Given the description of an element on the screen output the (x, y) to click on. 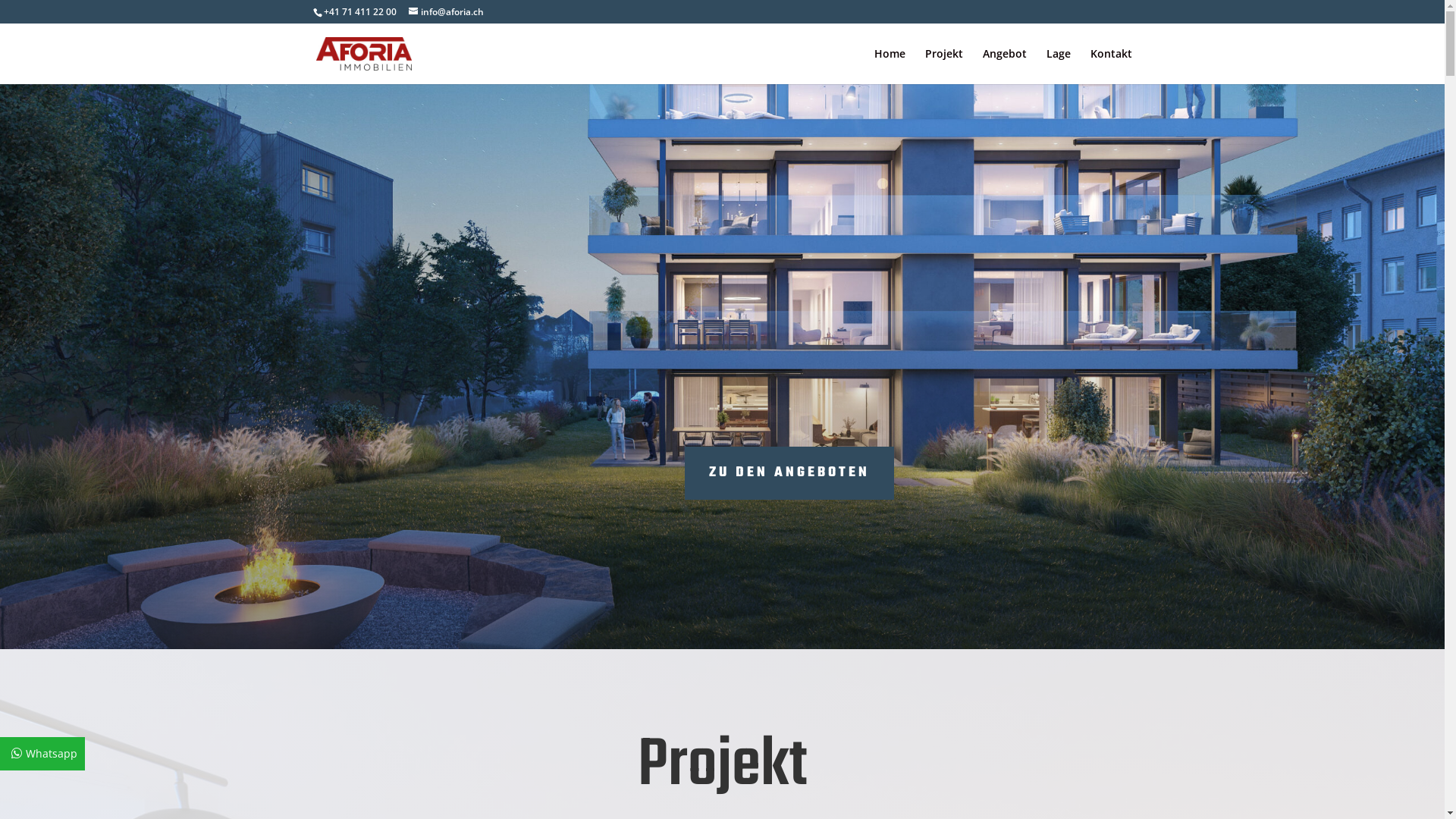
Kontakt Element type: text (1111, 66)
ZU DEN ANGEBOTEN Element type: text (789, 472)
Whatsapp Element type: text (42, 753)
Projekt Element type: text (944, 66)
info@aforia.ch Element type: text (445, 11)
Home Element type: text (888, 66)
Lage Element type: text (1058, 66)
Angebot Element type: text (1004, 66)
